Given the description of an element on the screen output the (x, y) to click on. 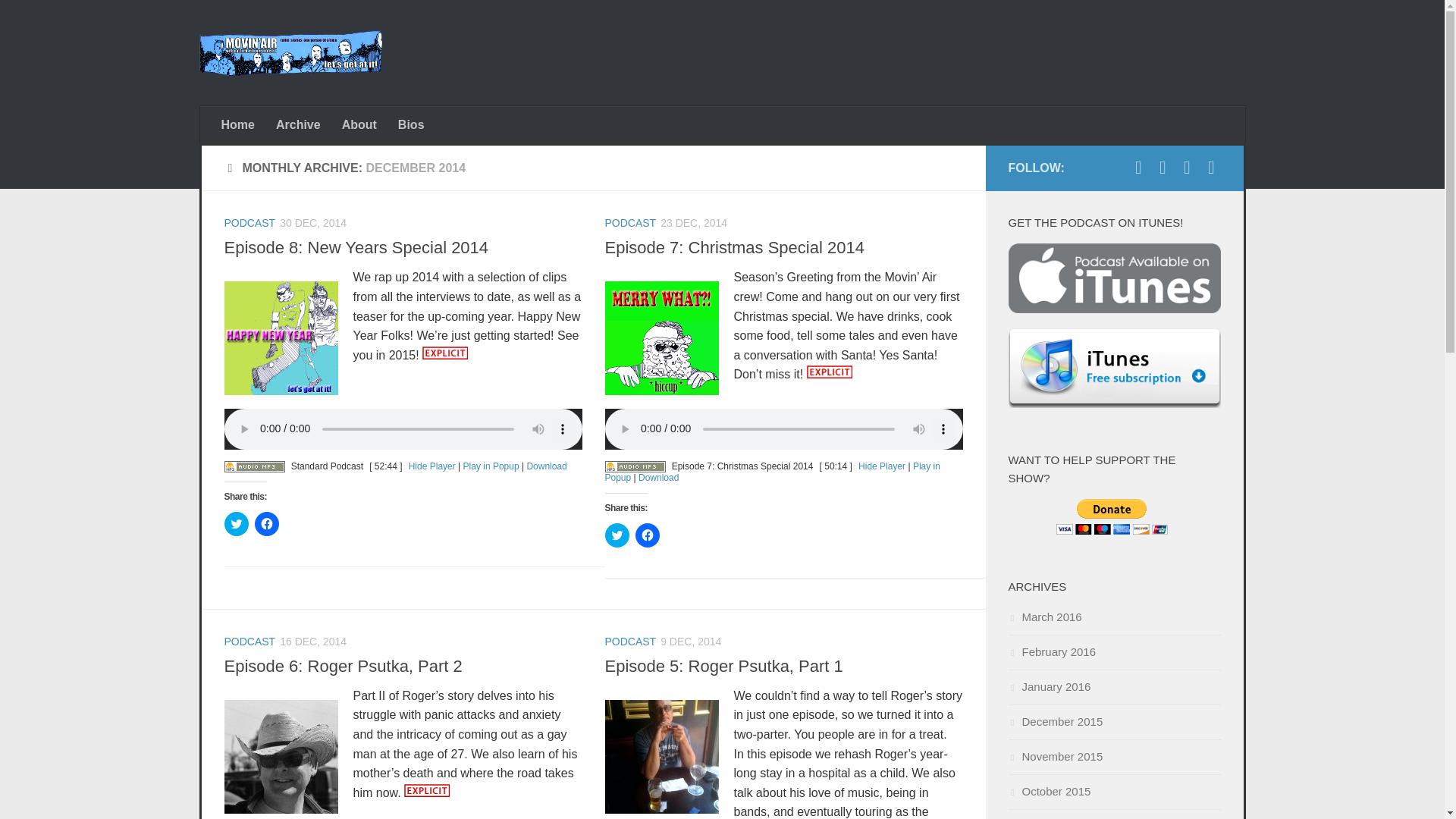
Hide Player (432, 466)
Episode 7: Christmas Special 2014 (734, 247)
Episode 8: New Years Special 2014 (356, 247)
Episode 5: Roger Psutka, Part 1 (724, 665)
Episode 7: Christmas Special 2014 (734, 247)
Play in Popup (491, 466)
Episode 6: Roger Psutka, Part 2 (343, 665)
Click to share on Facebook (646, 535)
Archive (297, 124)
Home (237, 124)
